Given the description of an element on the screen output the (x, y) to click on. 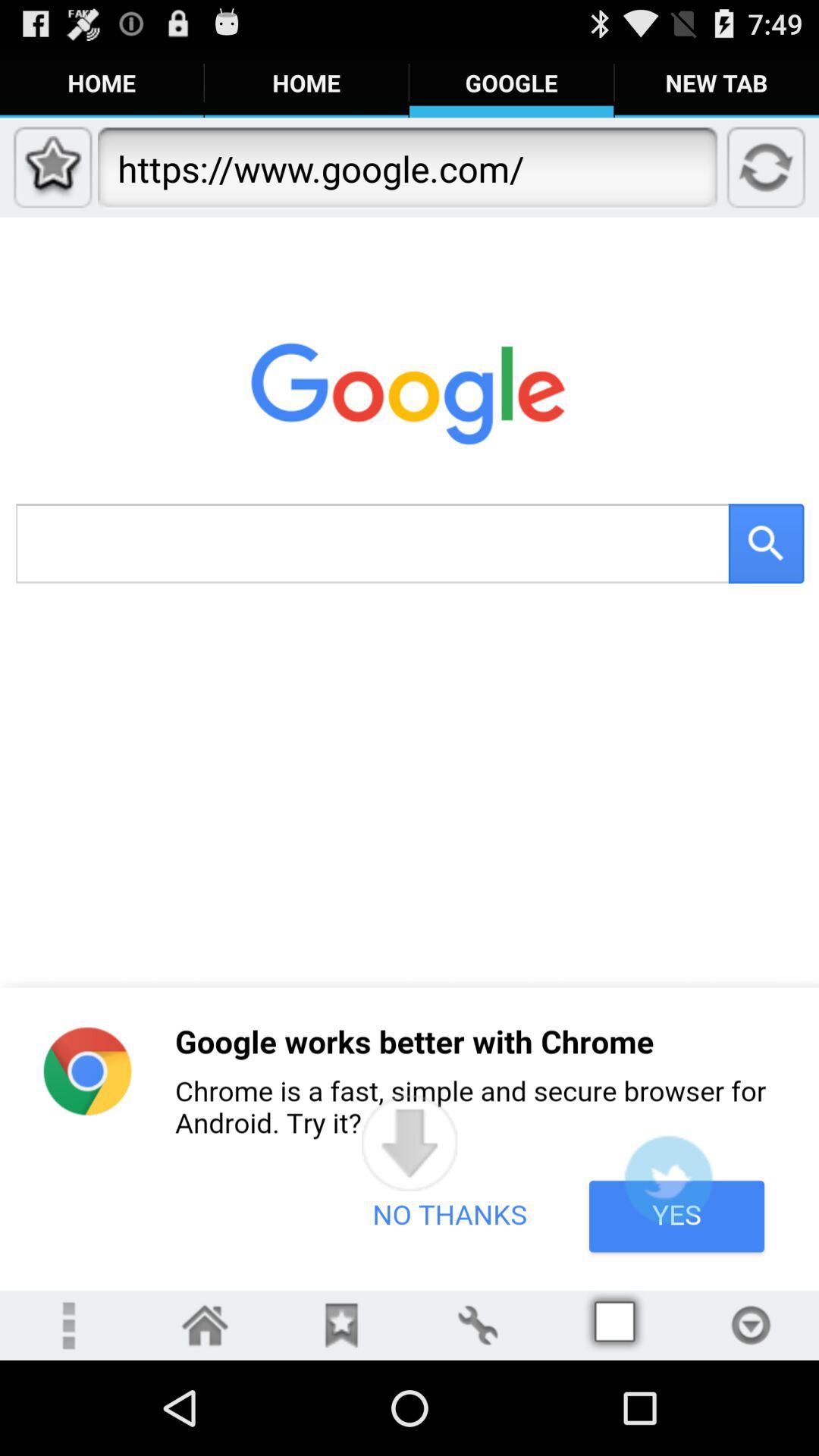
go to twitter button (668, 1179)
